Given the description of an element on the screen output the (x, y) to click on. 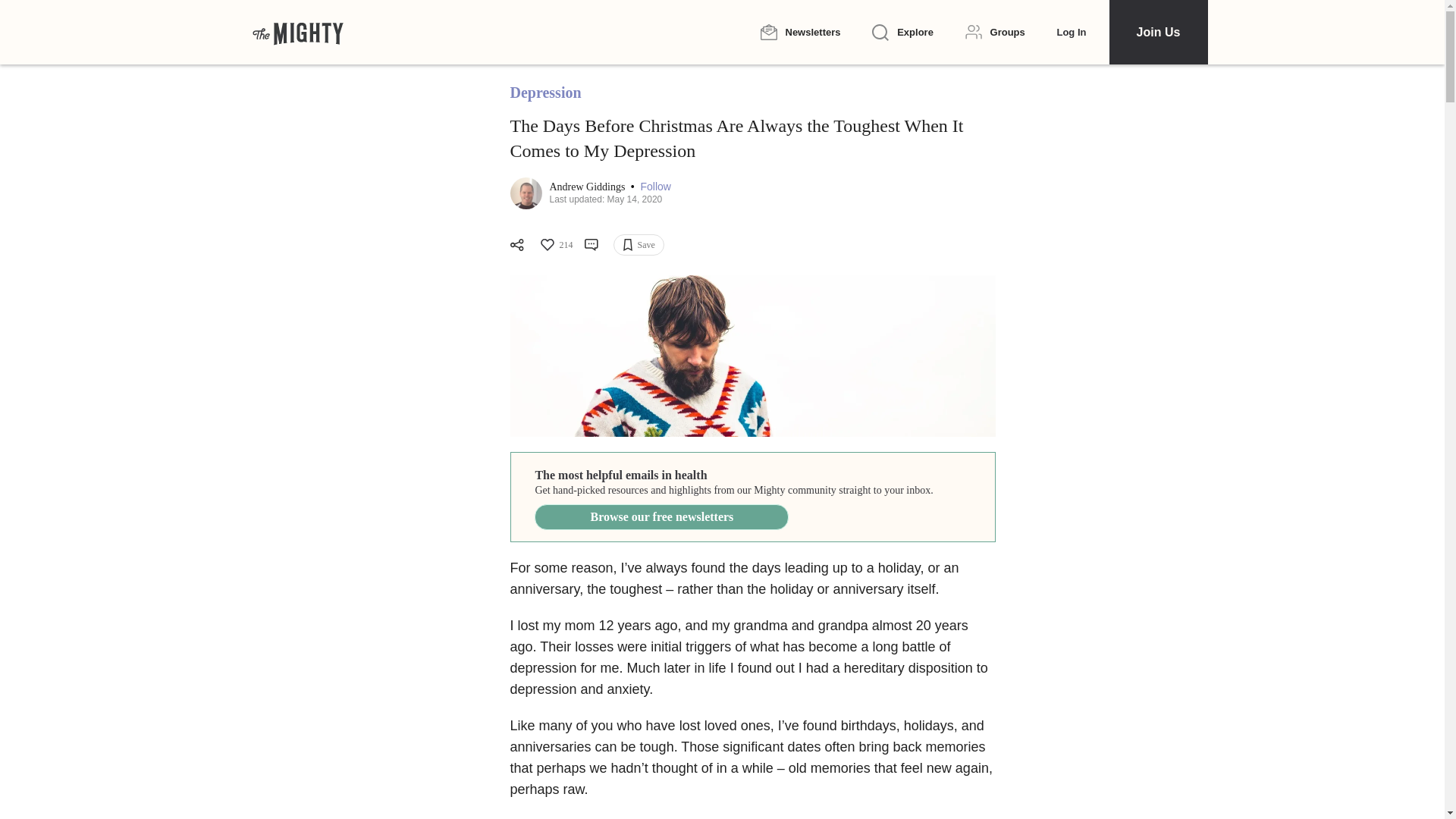
Andrew Giddings (587, 186)
Follow (655, 186)
Explore (902, 32)
The Mighty (296, 32)
Join Us (1157, 32)
Newsletters (800, 31)
Groups (995, 32)
Browse our free newsletters (661, 516)
Depression (544, 92)
214 (555, 244)
